Given the description of an element on the screen output the (x, y) to click on. 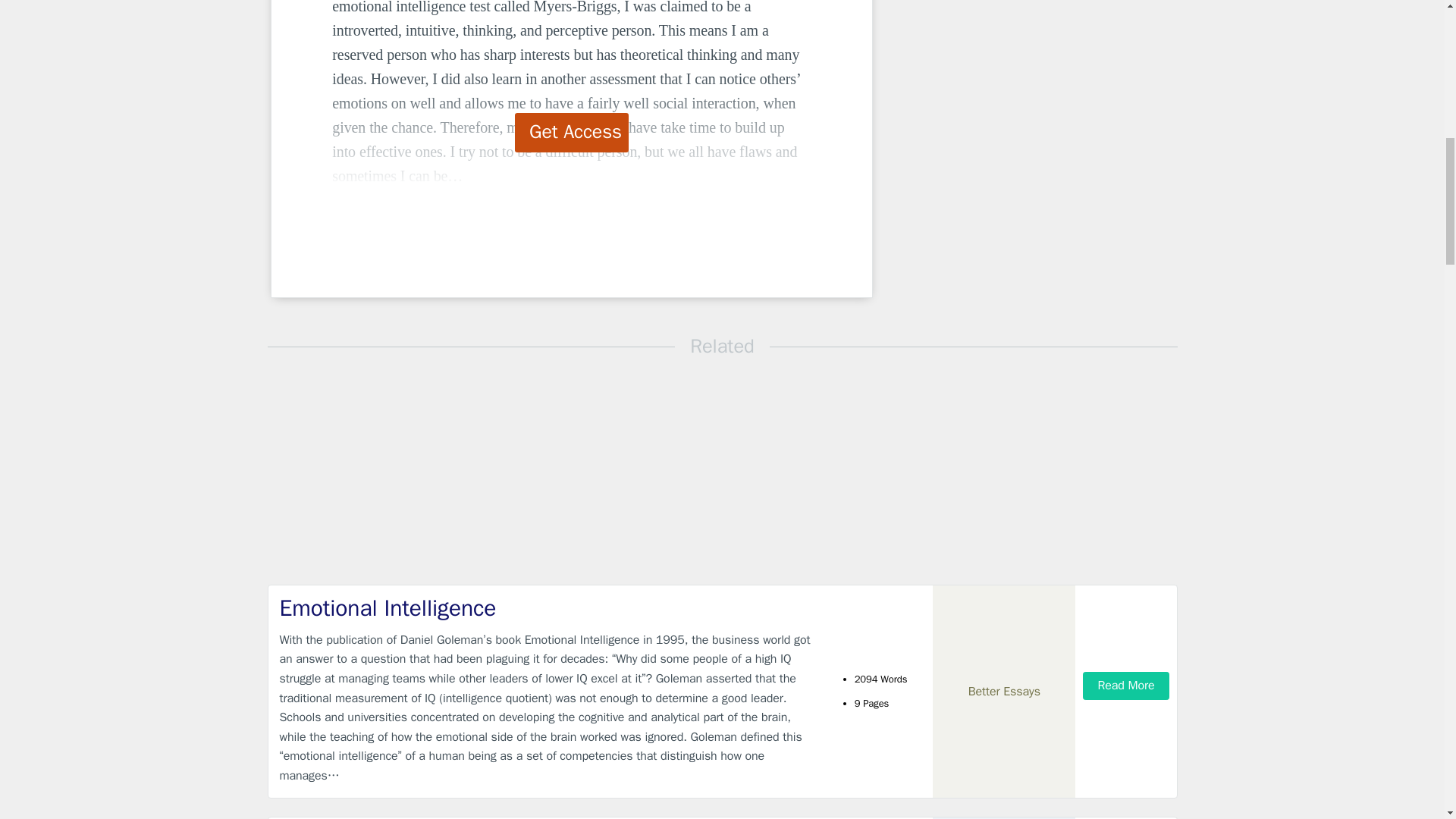
Read More (1126, 685)
Get Access (571, 132)
Emotional Intelligence (548, 608)
